Given the description of an element on the screen output the (x, y) to click on. 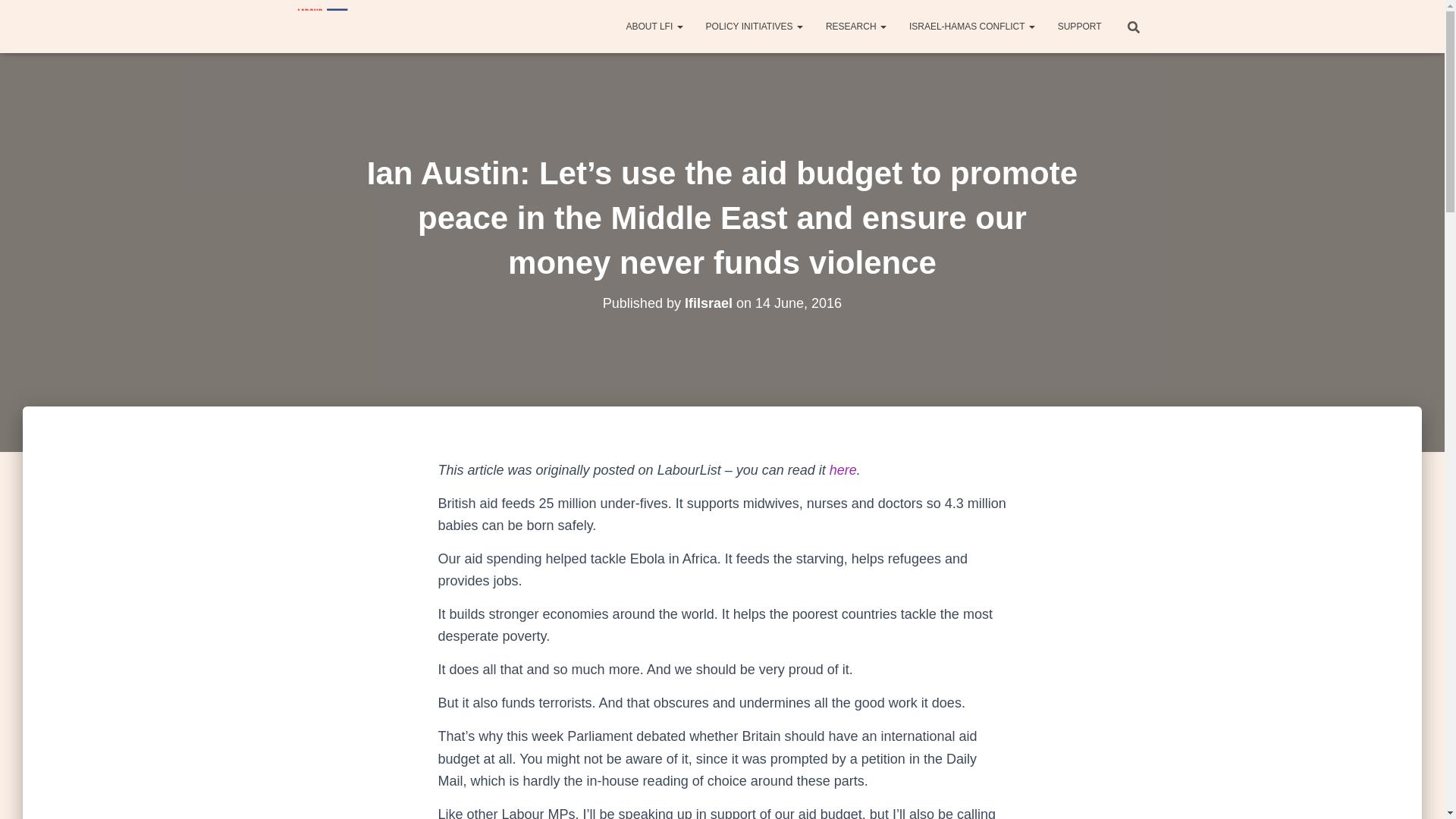
Search (16, 16)
Labour Friends of Israel (320, 26)
Policy Initiatives (753, 26)
ISRAEL-HAMAS CONFLICT (972, 26)
lfiIsrael (708, 303)
About LFI (654, 26)
SUPPORT (1079, 26)
ABOUT LFI (654, 26)
here (843, 469)
RESEARCH (855, 26)
Research (855, 26)
POLICY INITIATIVES (753, 26)
